Given the description of an element on the screen output the (x, y) to click on. 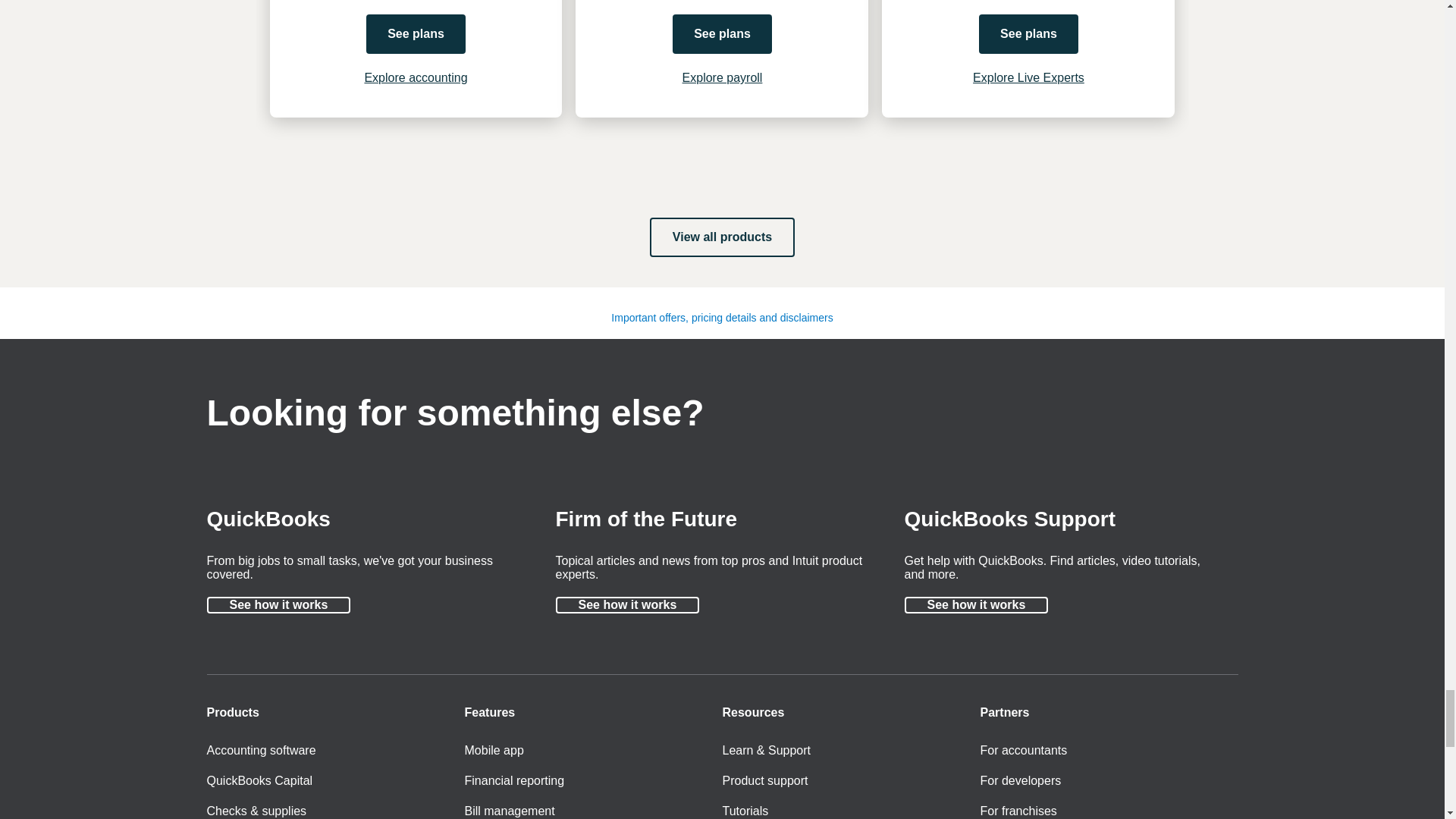
View all products (721, 237)
See plans (721, 34)
See plans (415, 34)
Explore accounting (415, 77)
See plans (1028, 34)
Explore payroll (722, 77)
Explore Live Experts (1028, 77)
